Given the description of an element on the screen output the (x, y) to click on. 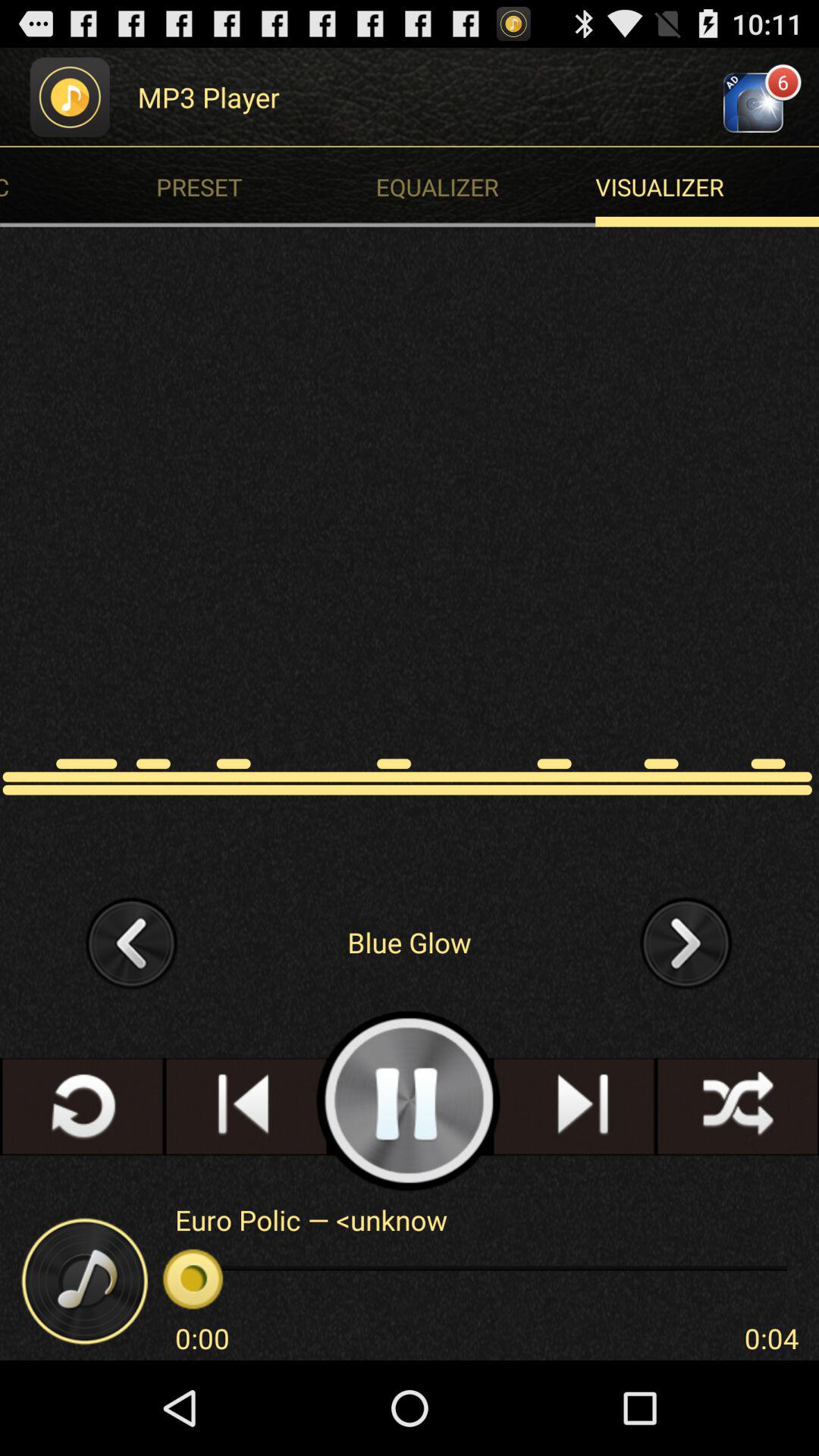
press icon on the right (686, 941)
